Given the description of an element on the screen output the (x, y) to click on. 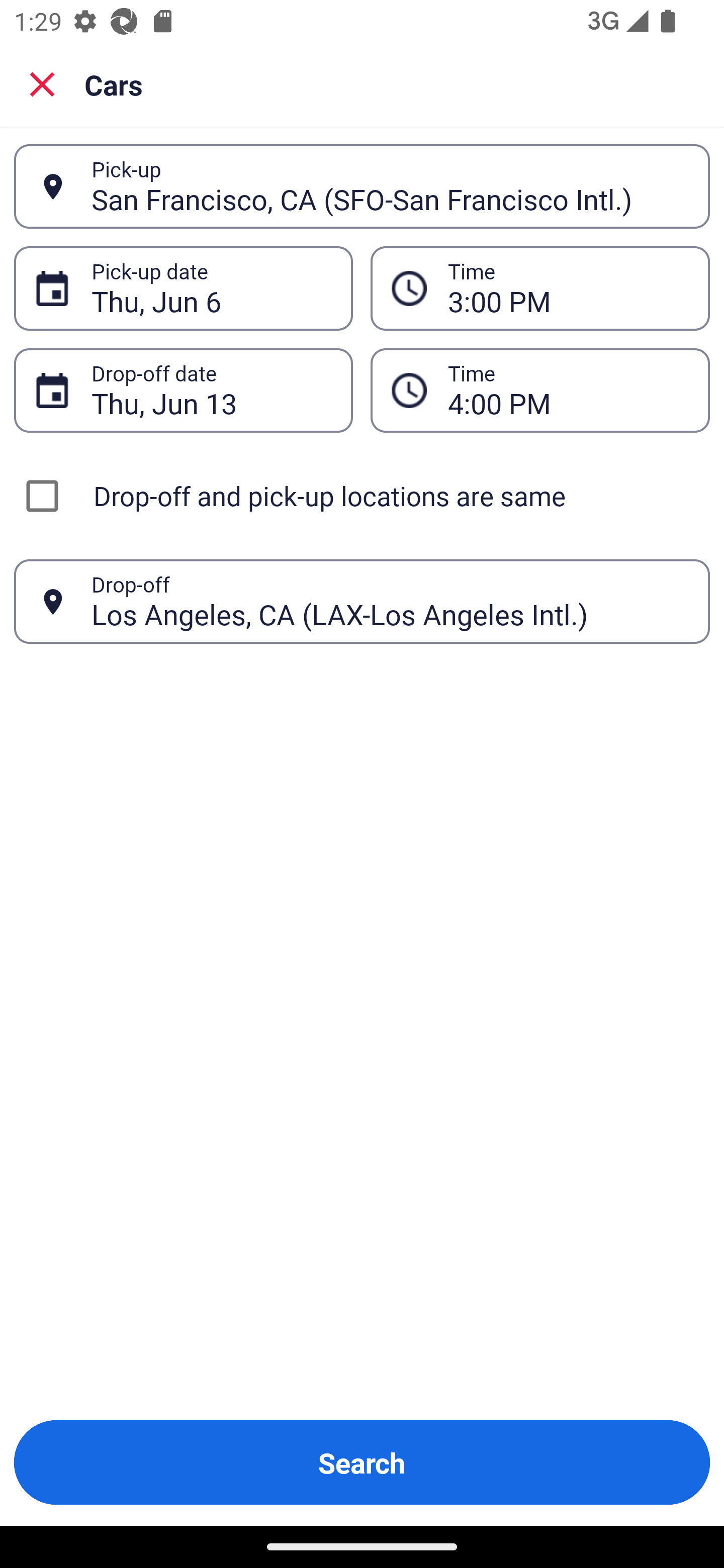
Close search screen (42, 84)
San Francisco, CA (SFO-San Francisco Intl.) (389, 186)
Thu, Jun 6 (211, 288)
3:00 PM (568, 288)
Thu, Jun 13 (211, 390)
4:00 PM (568, 390)
Drop-off and pick-up locations are same (361, 495)
Los Angeles, CA (LAX-Los Angeles Intl.) (389, 601)
Search Button Search (361, 1462)
